Given the description of an element on the screen output the (x, y) to click on. 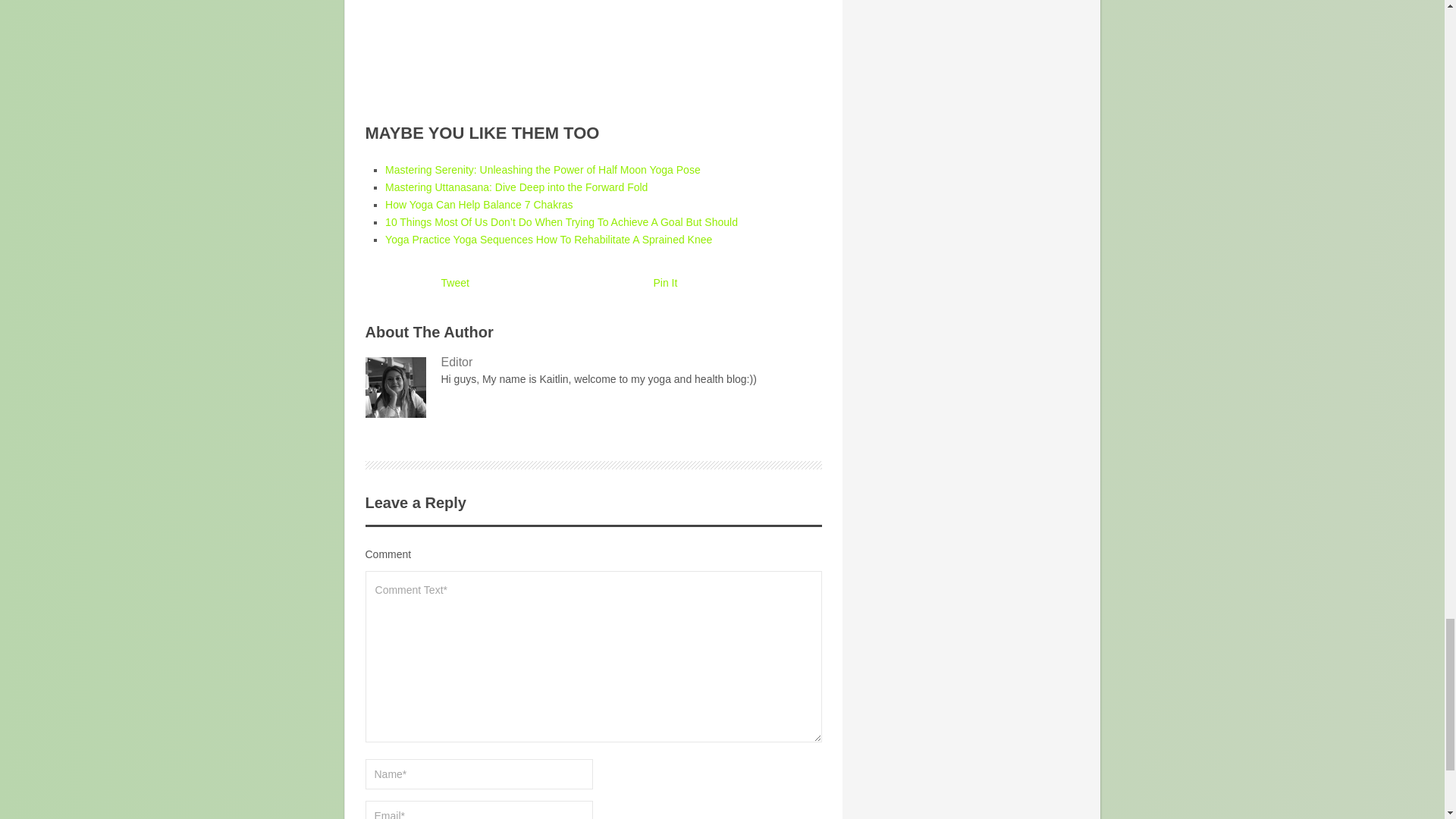
Mastering Uttanasana: Dive Deep into the Forward Fold (516, 186)
Tweet (454, 282)
Mastering Uttanasana: Dive Deep into the Forward Fold (516, 186)
How Yoga Can Help Balance 7 Chakras (479, 204)
Pin It (665, 282)
How Yoga Can Help Balance 7 Chakras (479, 204)
Editor (593, 362)
